Given the description of an element on the screen output the (x, y) to click on. 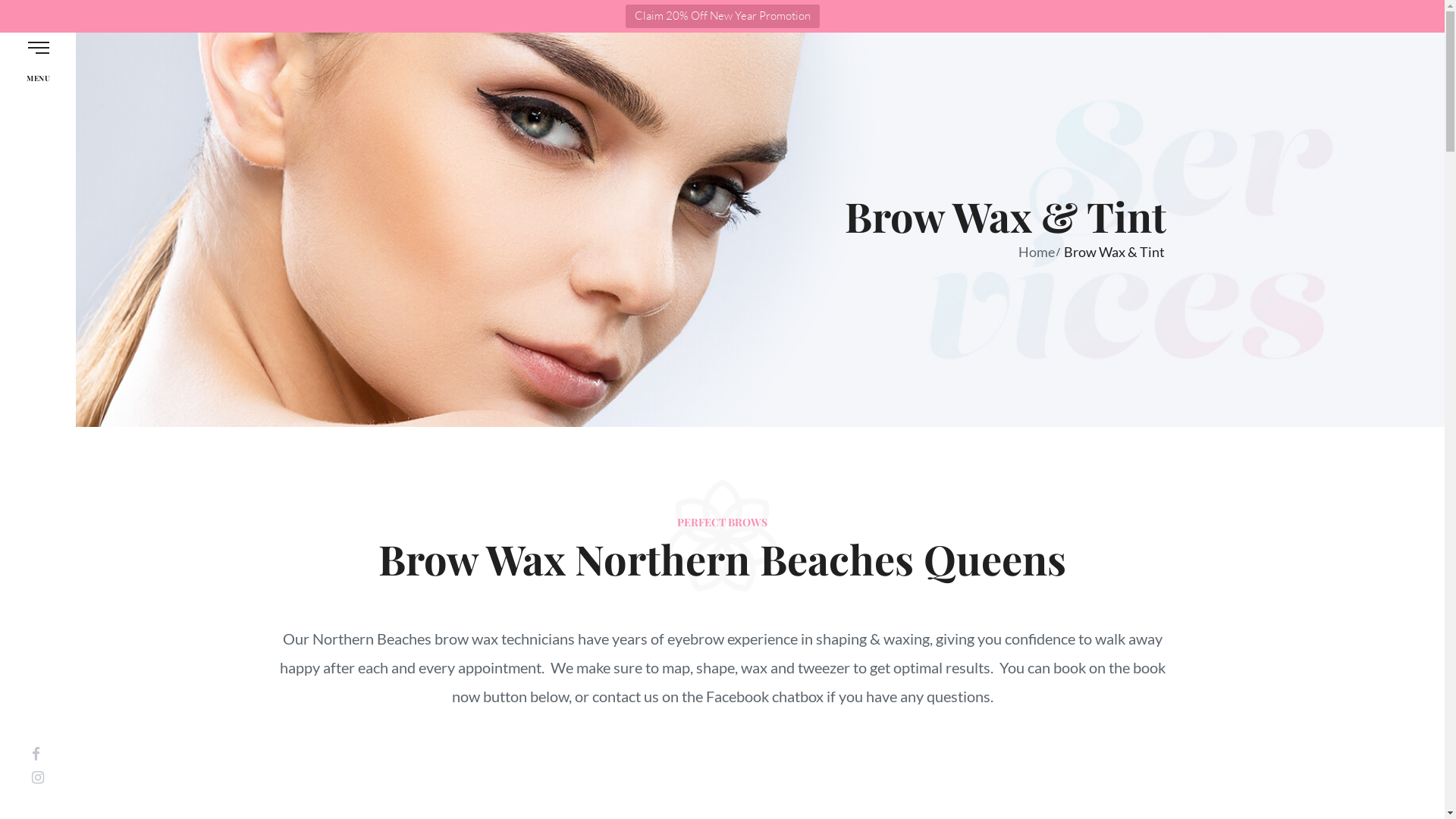
Claim 20% Off New Year Promotion Element type: text (721, 16)
Instagram Element type: hover (37, 776)
Home Element type: text (1032, 252)
Facebook Element type: hover (35, 753)
MENU Element type: text (38, 56)
